Given the description of an element on the screen output the (x, y) to click on. 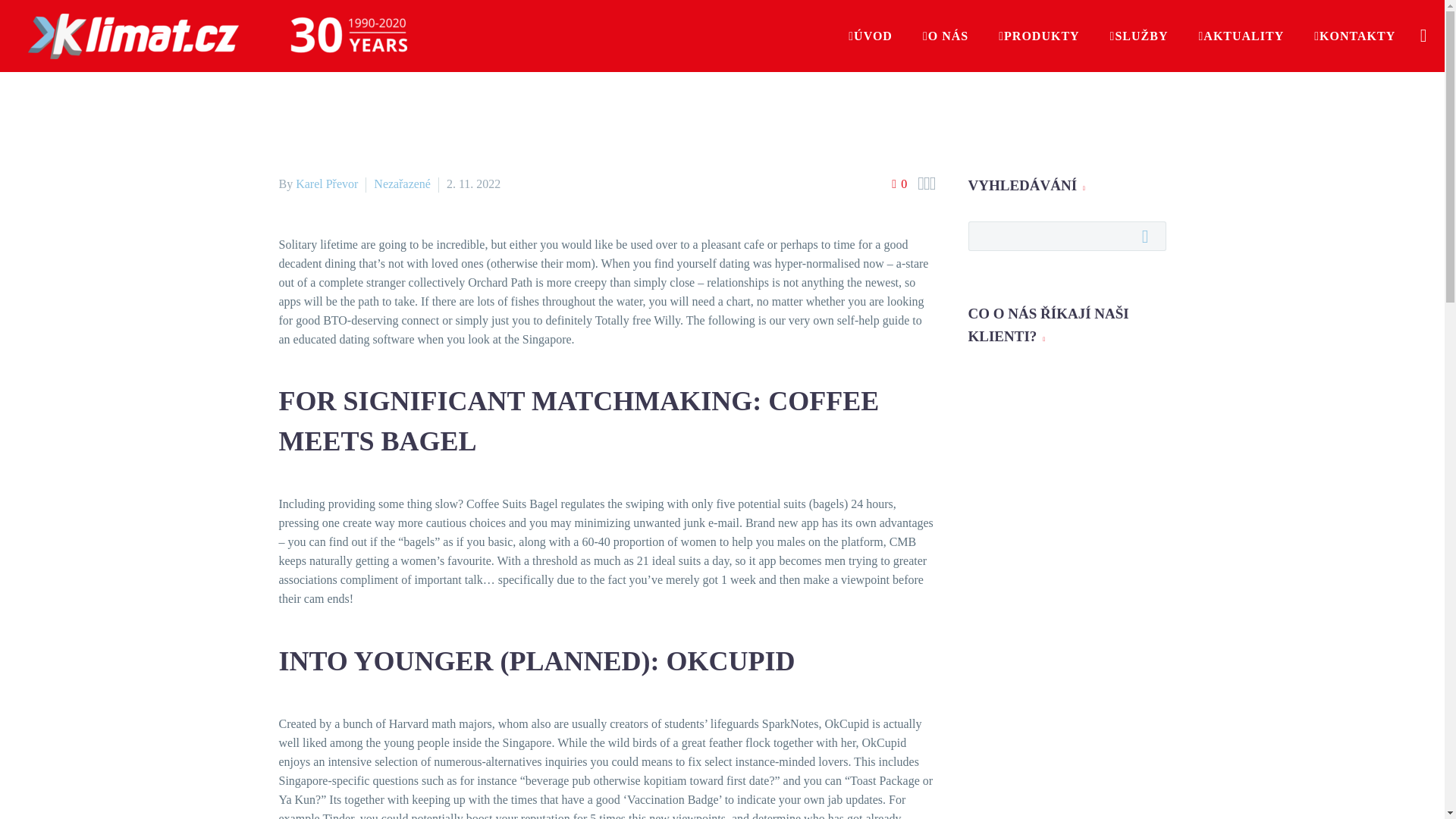
AKTUALITY (1240, 36)
KONTAKTY (1354, 36)
PRODUKTY (1039, 36)
